Given the description of an element on the screen output the (x, y) to click on. 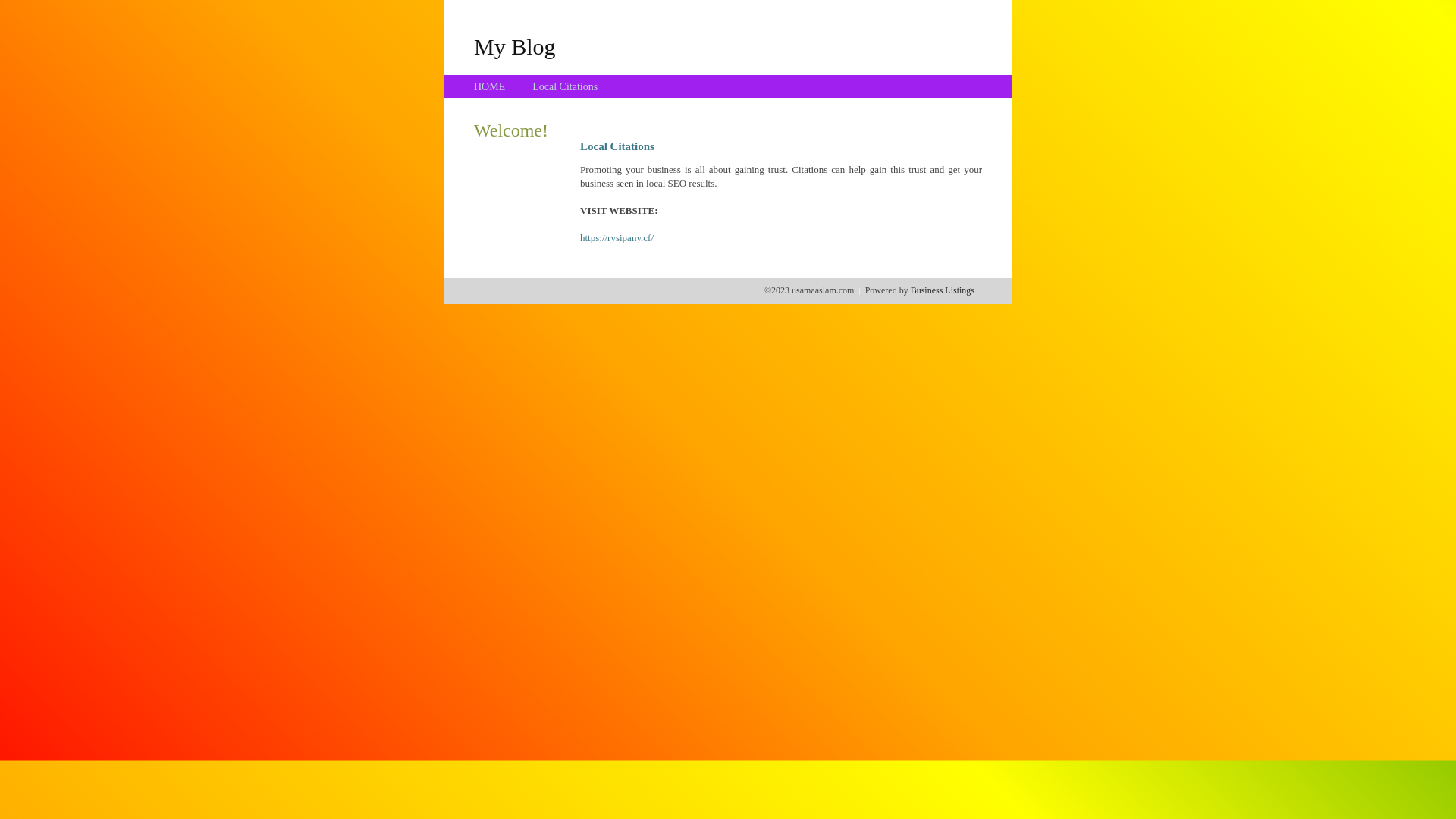
My Blog Element type: text (514, 46)
Business Listings Element type: text (942, 290)
Local Citations Element type: text (564, 86)
HOME Element type: text (489, 86)
https://rysipany.cf/ Element type: text (616, 237)
